Given the description of an element on the screen output the (x, y) to click on. 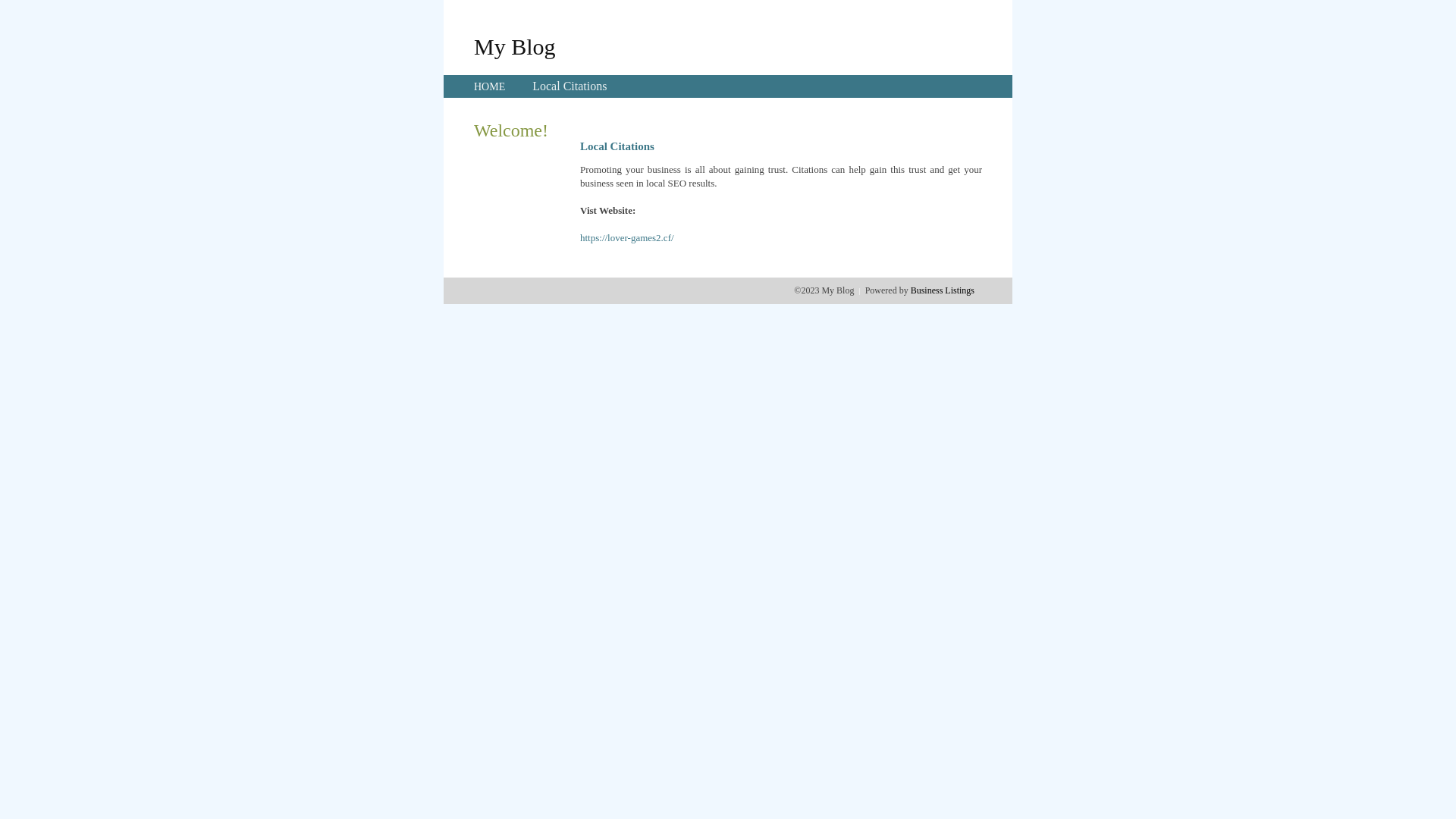
HOME Element type: text (489, 86)
Business Listings Element type: text (942, 290)
My Blog Element type: text (514, 46)
https://lover-games2.cf/ Element type: text (627, 237)
Local Citations Element type: text (569, 85)
